Given the description of an element on the screen output the (x, y) to click on. 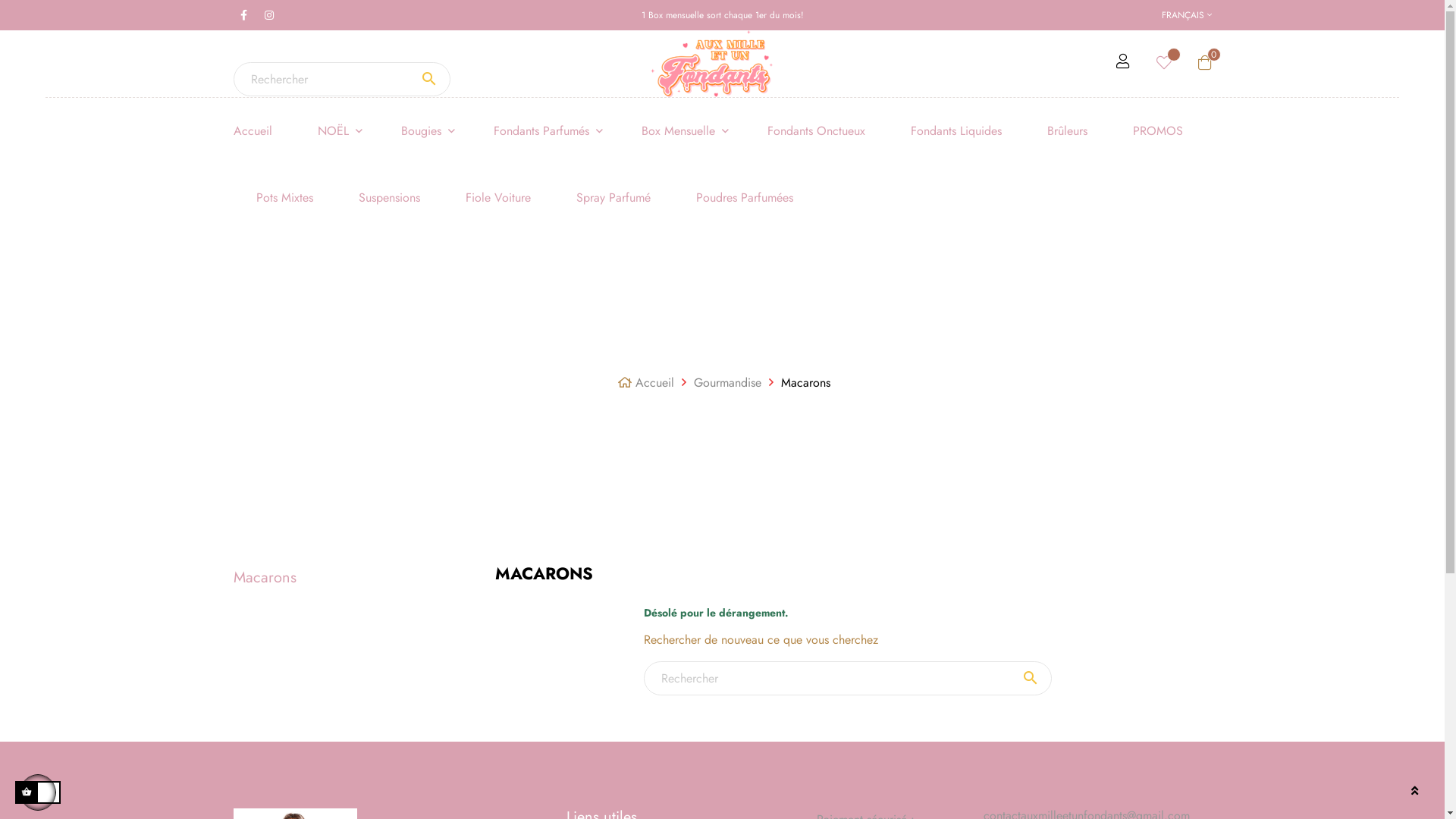
Bougies Element type: text (424, 130)
Accueil Element type: text (263, 130)
Fiole Voiture Element type: text (497, 197)
Customer reviews powered by Trustpilot Element type: hover (847, 555)
Fondants Onctueux Element type: text (816, 130)
Instagram Element type: hover (269, 15)
Accueil Element type: text (656, 382)
Macarons Element type: text (264, 577)
Suspensions Element type: text (388, 197)
Macarons Element type: text (805, 382)
Compte Element type: hover (1122, 63)
Box Mensuelle Element type: text (681, 130)
PROMOS Element type: text (1157, 130)
Liste de souhaits Element type: hover (1162, 63)
Gourmandise Element type: text (729, 382)
Fondants Liquides Element type: text (956, 130)
Pots Mixtes Element type: text (284, 197)
Facebook Element type: hover (243, 15)
